Given the description of an element on the screen output the (x, y) to click on. 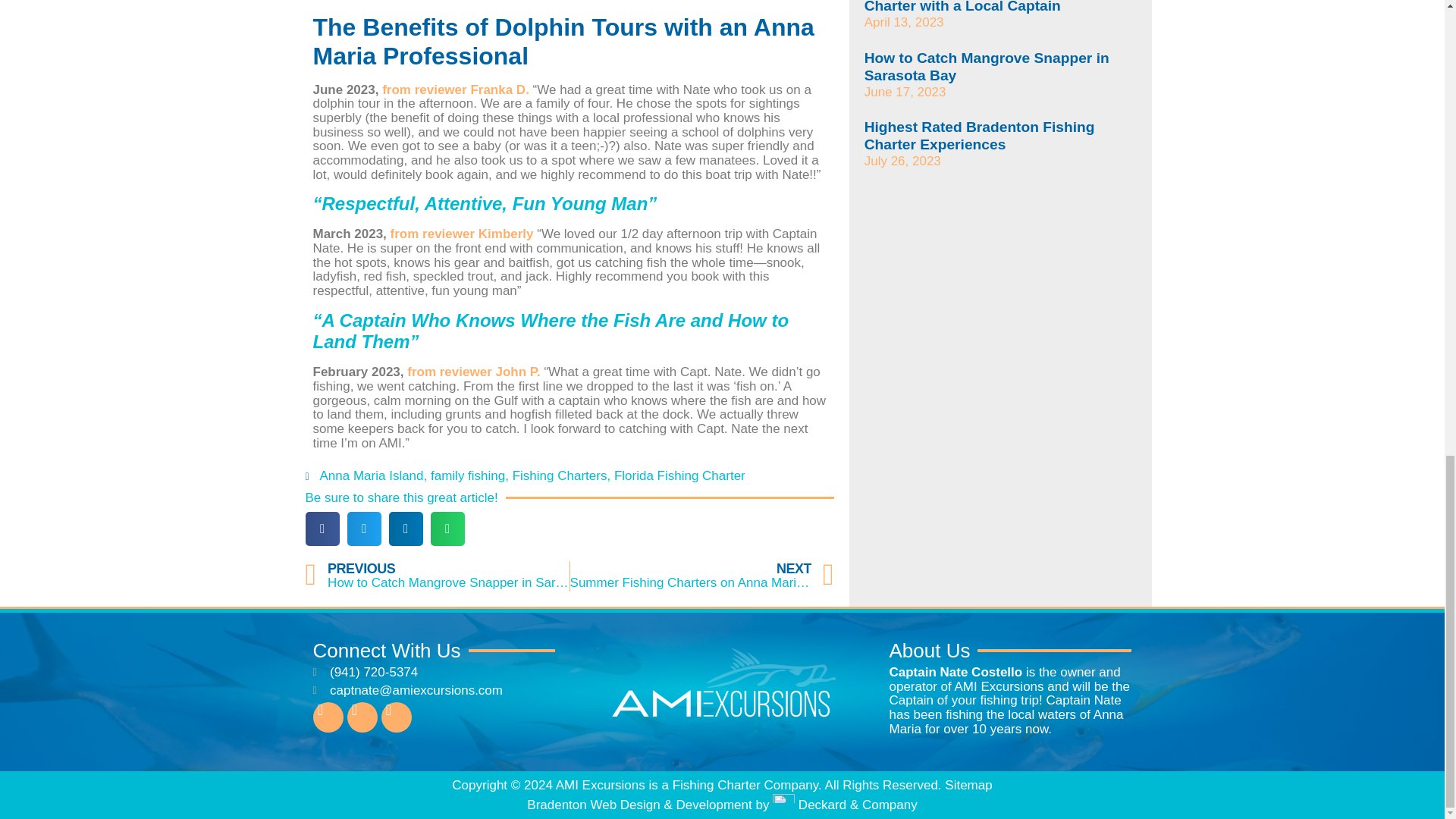
family fishing (702, 576)
Anna Maria Island (467, 475)
from reviewer Franka D. (436, 576)
Florida Fishing Charter (371, 475)
Fishing Charters (455, 89)
from reviewer John P. (679, 475)
from reviewer Kimberly (559, 475)
